Given the description of an element on the screen output the (x, y) to click on. 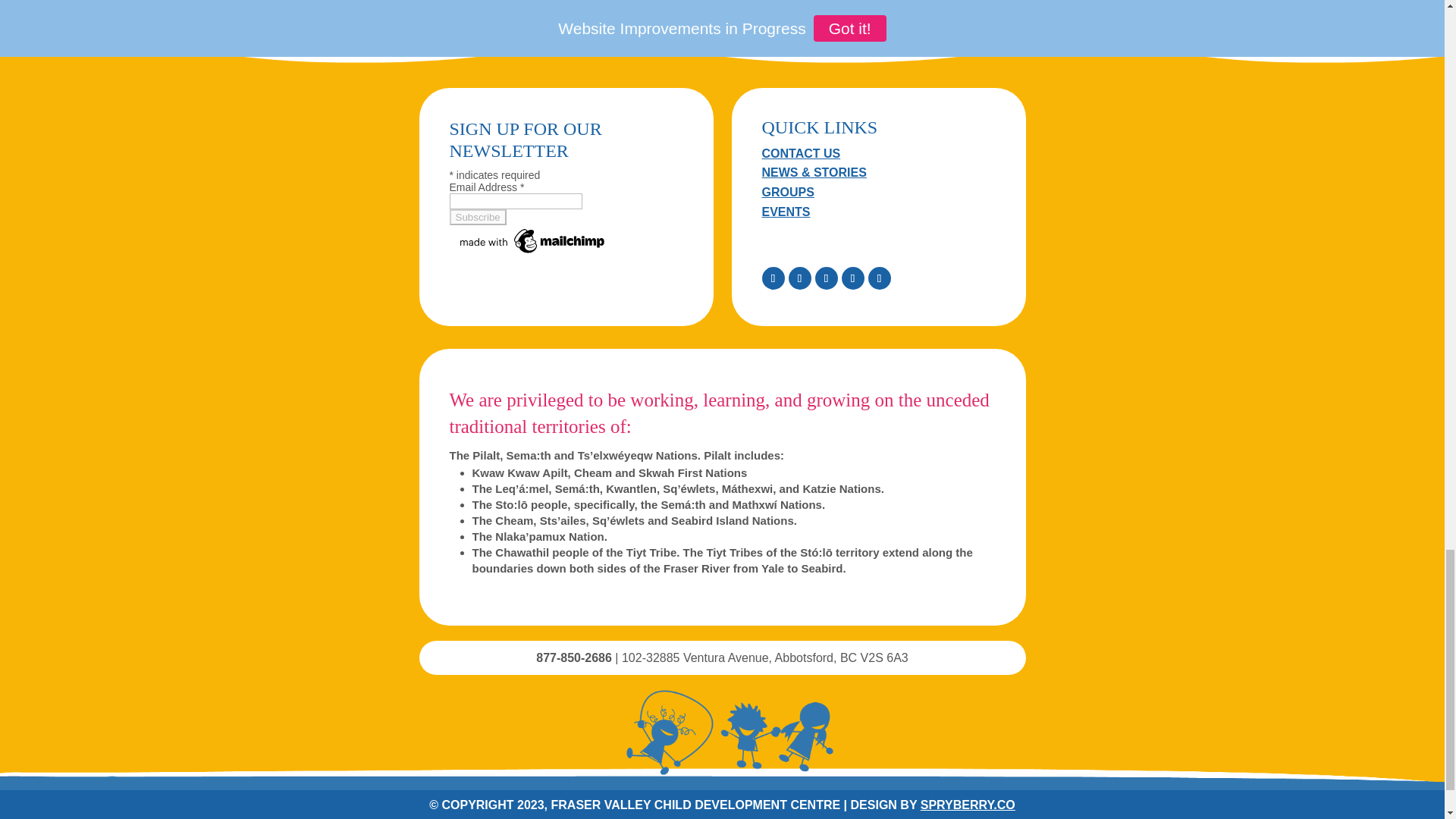
Subscribe (476, 217)
